Given the description of an element on the screen output the (x, y) to click on. 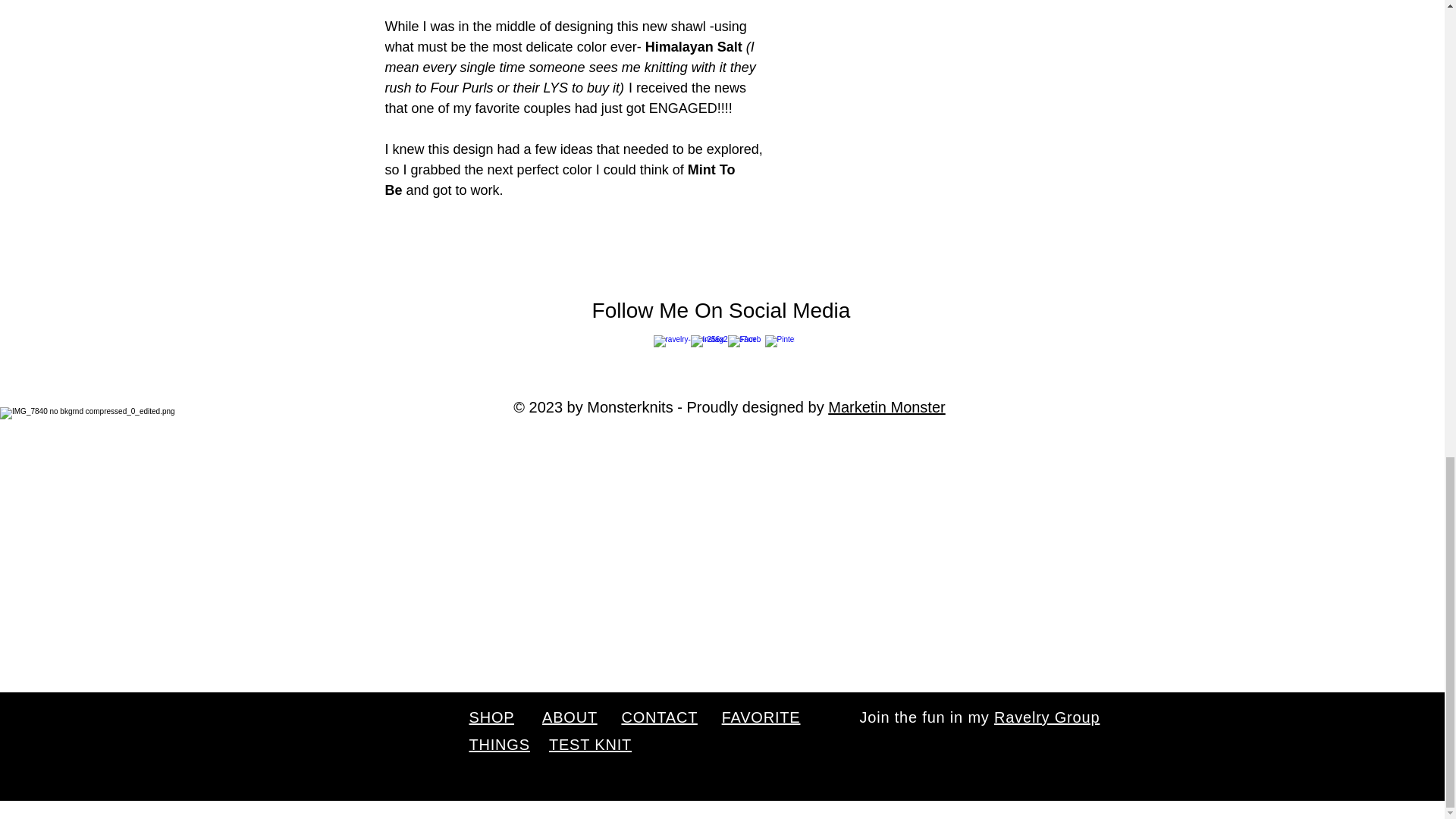
FAVORITE THINGS (633, 730)
ABOUT (568, 717)
CONTACT (659, 717)
TEST KNIT (589, 744)
SHOP (490, 717)
Ravelry Group (1046, 717)
Marketin Monster (886, 406)
